Given the description of an element on the screen output the (x, y) to click on. 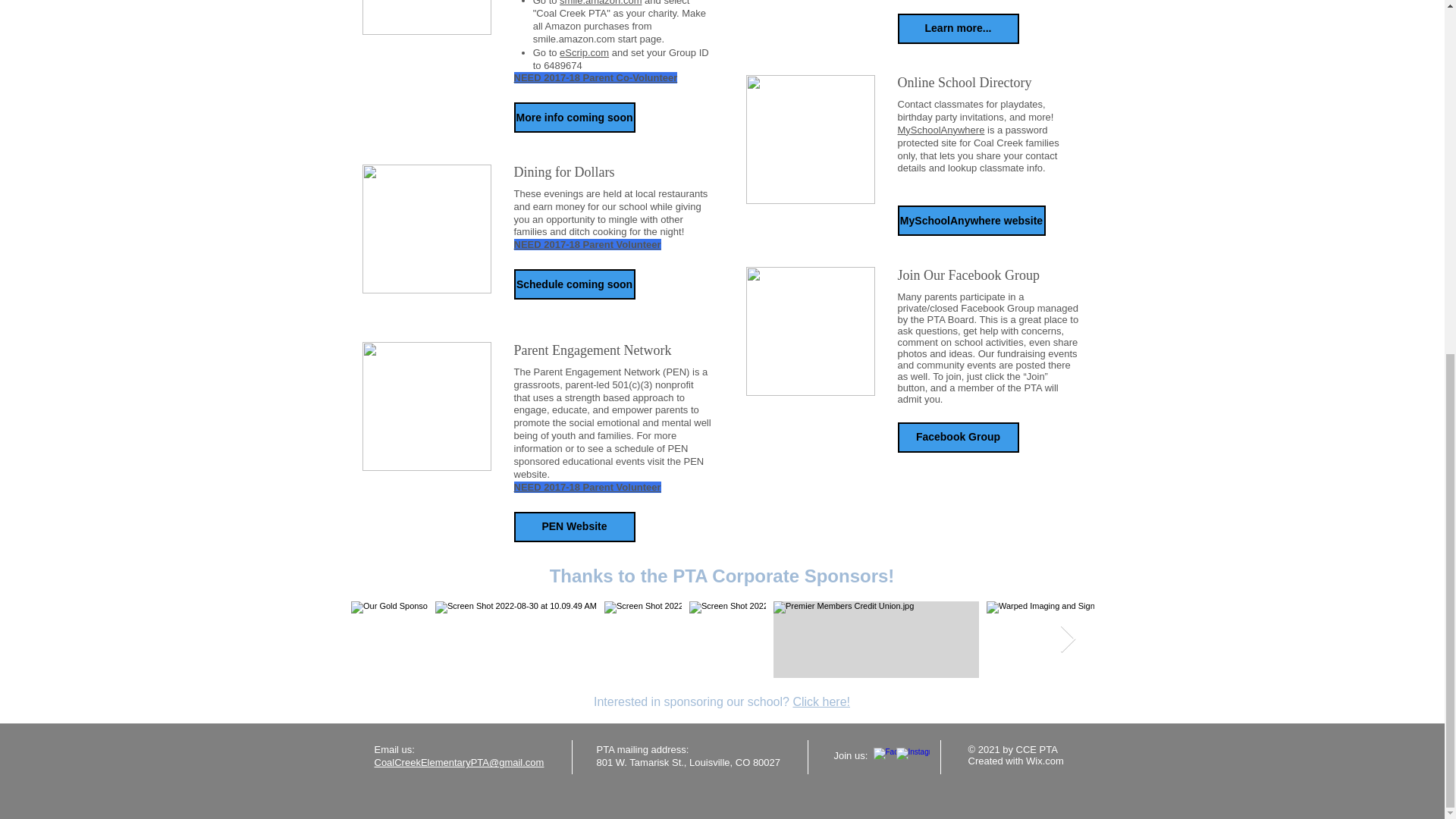
Learn more... (958, 28)
eScrip.com (583, 52)
NEED 2017-18 Parent Volunteer (587, 244)
NEED 2017-18 Parent Volunteer (587, 487)
PEN Website (573, 526)
PEN.jpeg (427, 406)
Online School Directory (989, 82)
FB.jpeg (810, 330)
NEED 2017-18 Parent Co-Volunteer (595, 77)
amazonsmile.jpeg (427, 17)
